Given the description of an element on the screen output the (x, y) to click on. 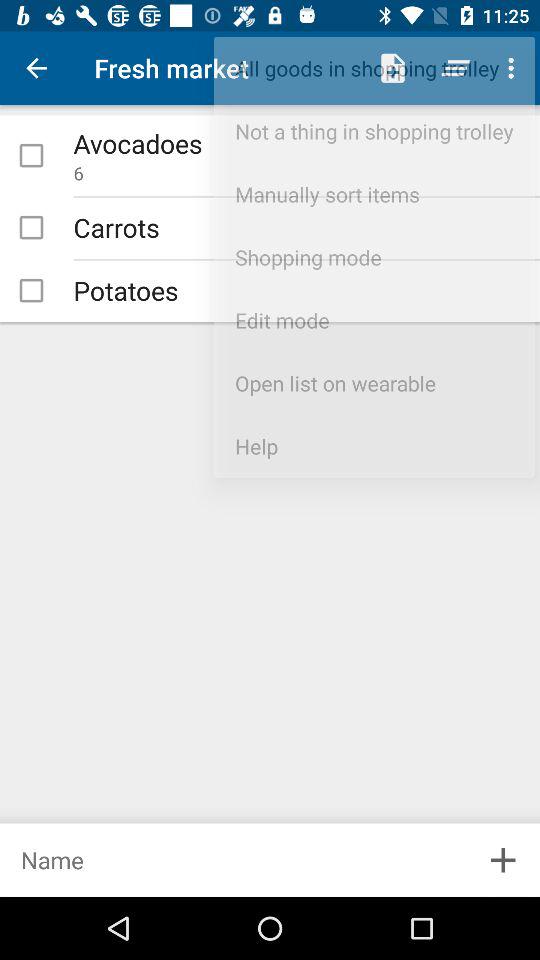
select button (31, 155)
